Given the description of an element on the screen output the (x, y) to click on. 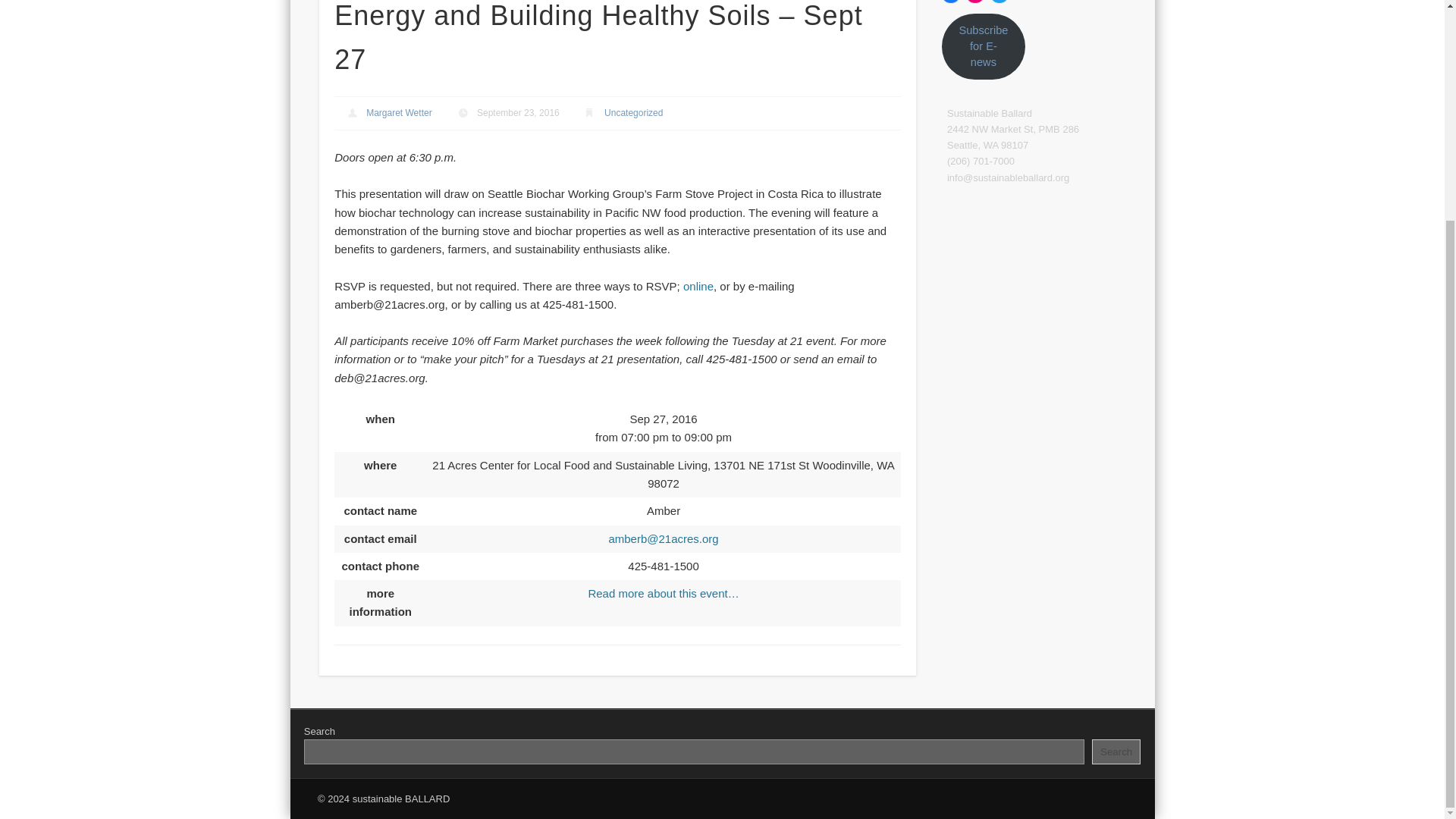
Posts by Margaret Wetter (398, 112)
